Given the description of an element on the screen output the (x, y) to click on. 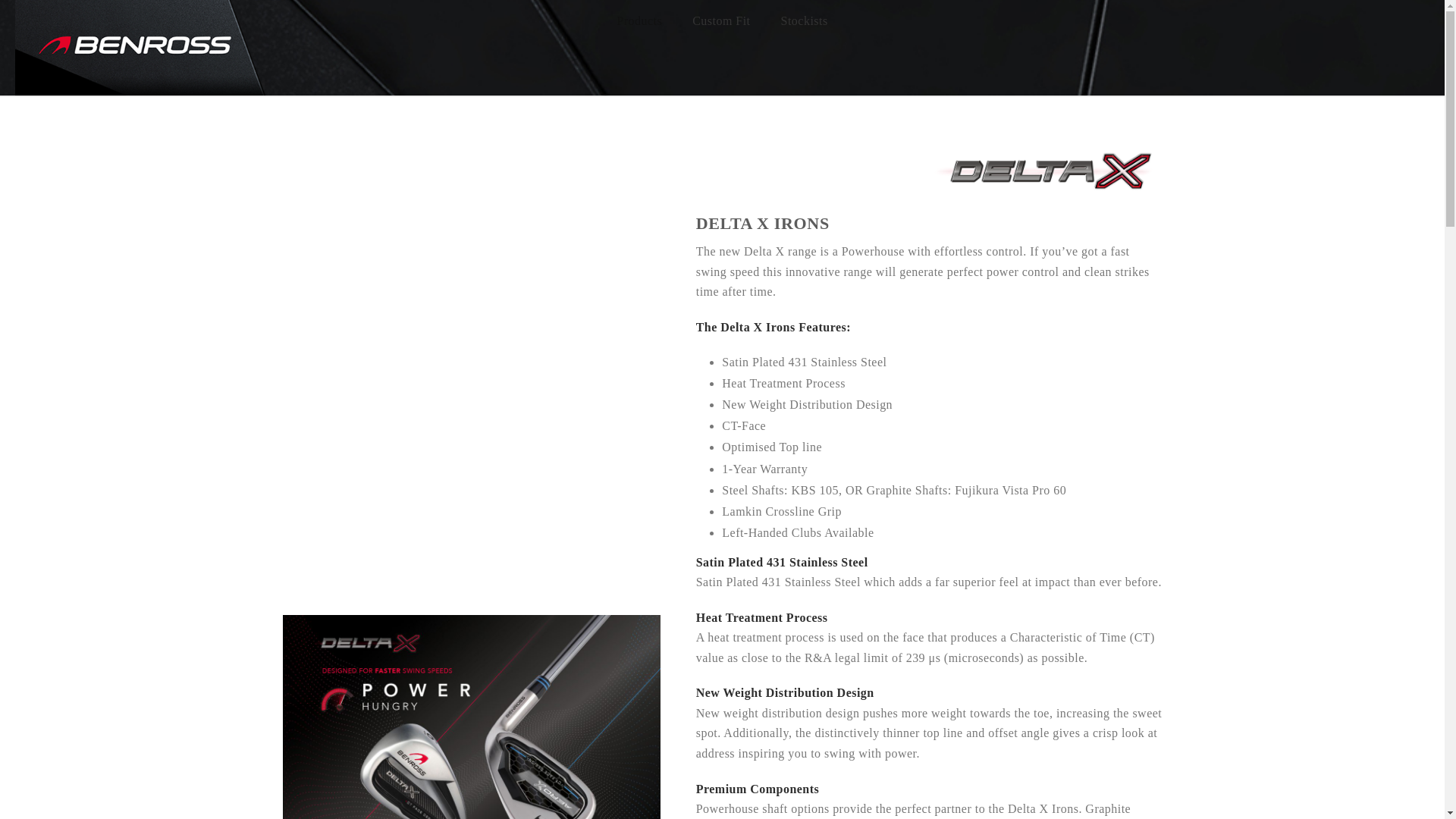
Excellence Made Affordable (139, 47)
Products (638, 21)
